Given the description of an element on the screen output the (x, y) to click on. 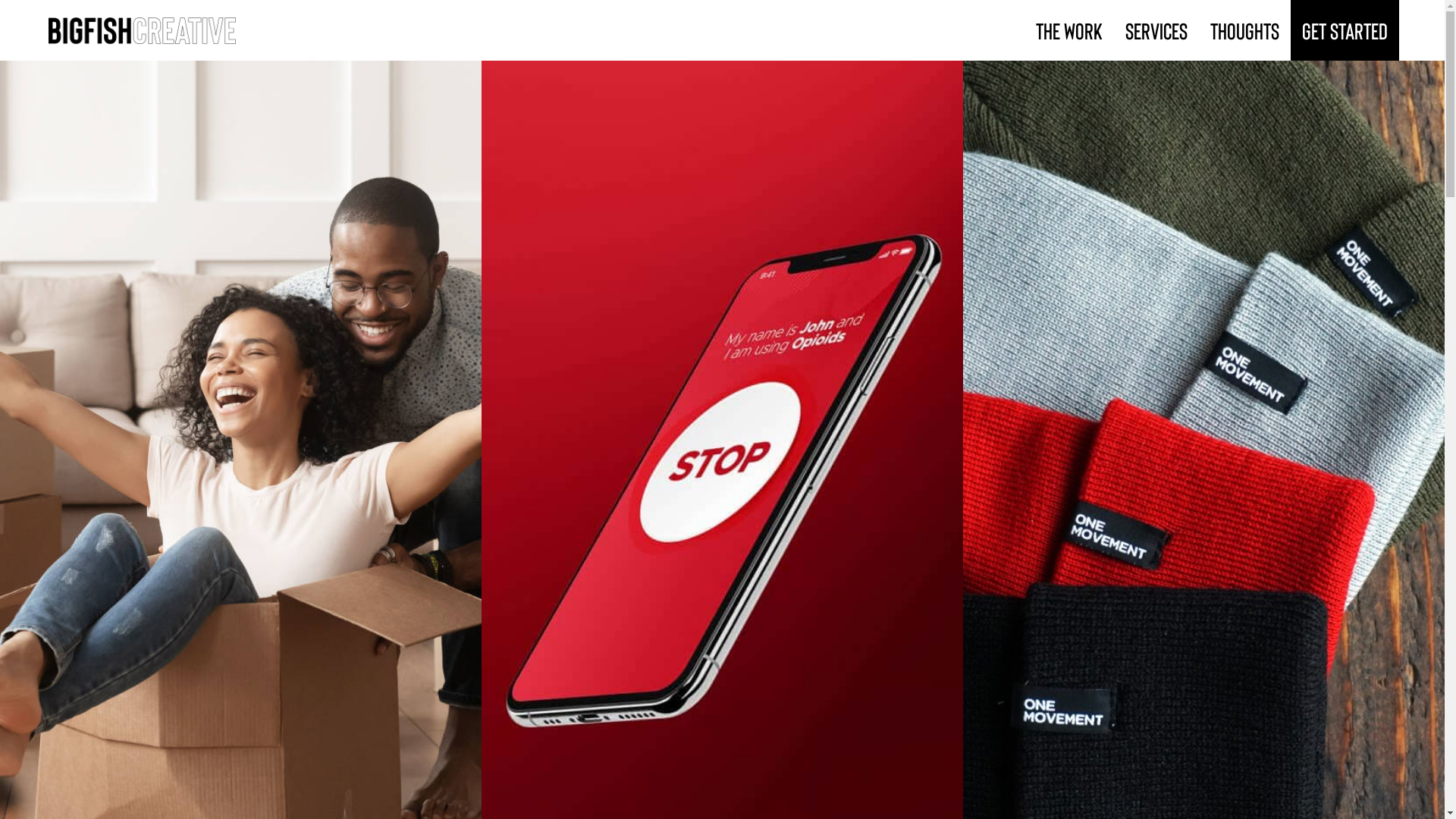
THE WORK Element type: text (1068, 30)
GET STARTED Element type: text (1344, 30)
SERVICES Element type: text (1155, 30)
THOUGHTS Element type: text (1244, 30)
